Given the description of an element on the screen output the (x, y) to click on. 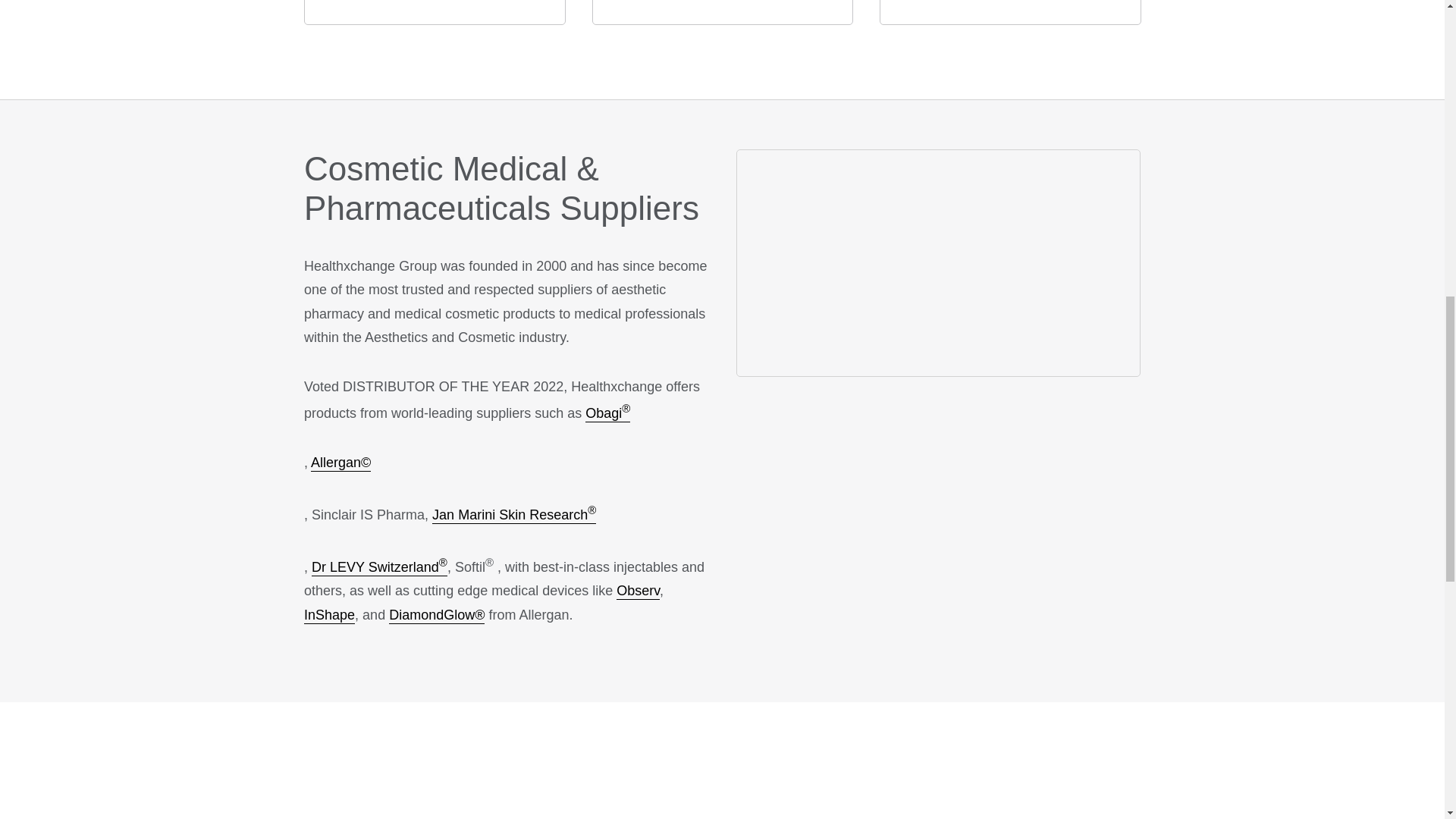
DiamondGlow (436, 615)
Observ (637, 591)
InShape (329, 615)
